Given the description of an element on the screen output the (x, y) to click on. 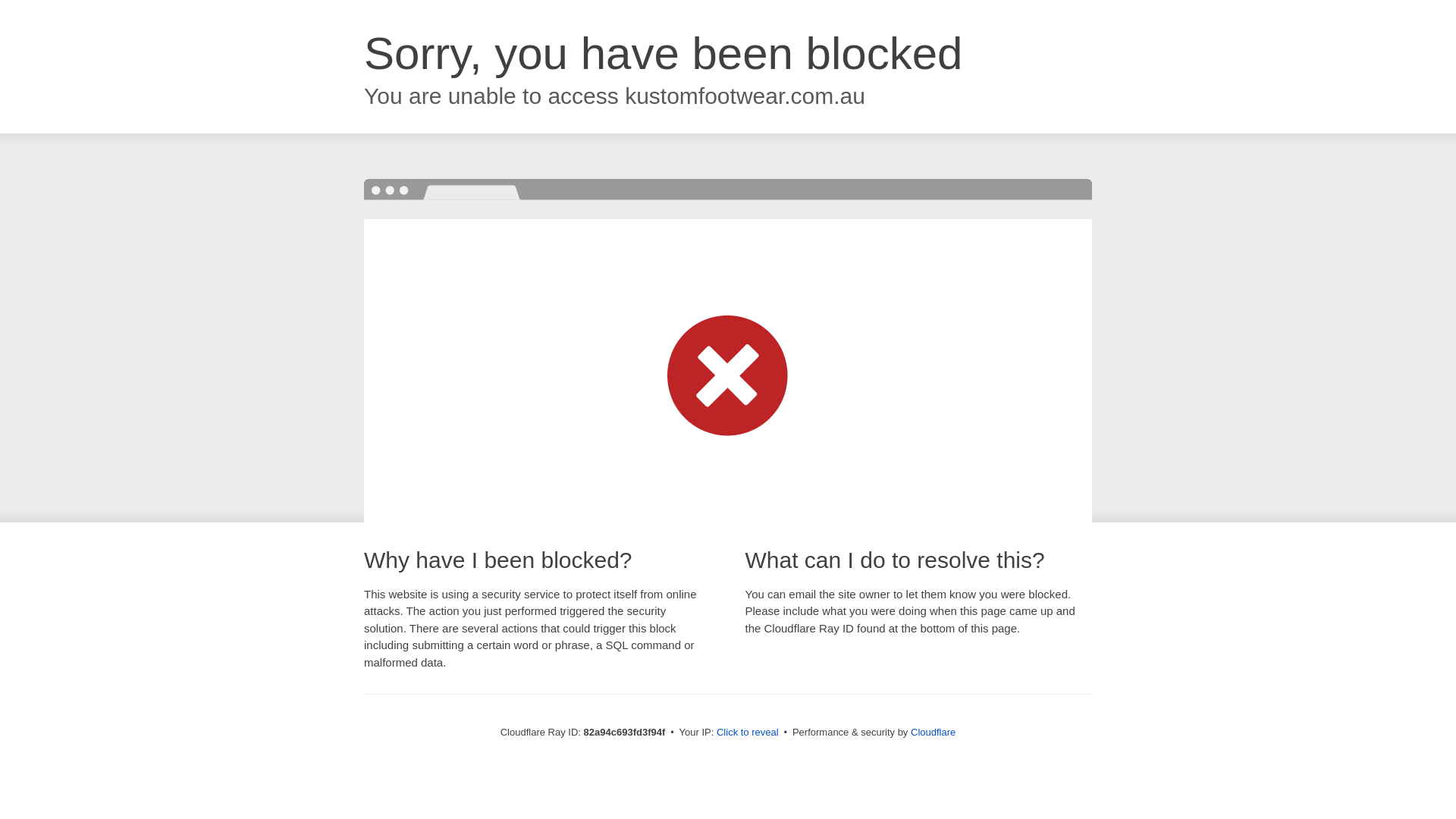
Cloudflare Element type: text (932, 731)
Click to reveal Element type: text (747, 732)
